Given the description of an element on the screen output the (x, y) to click on. 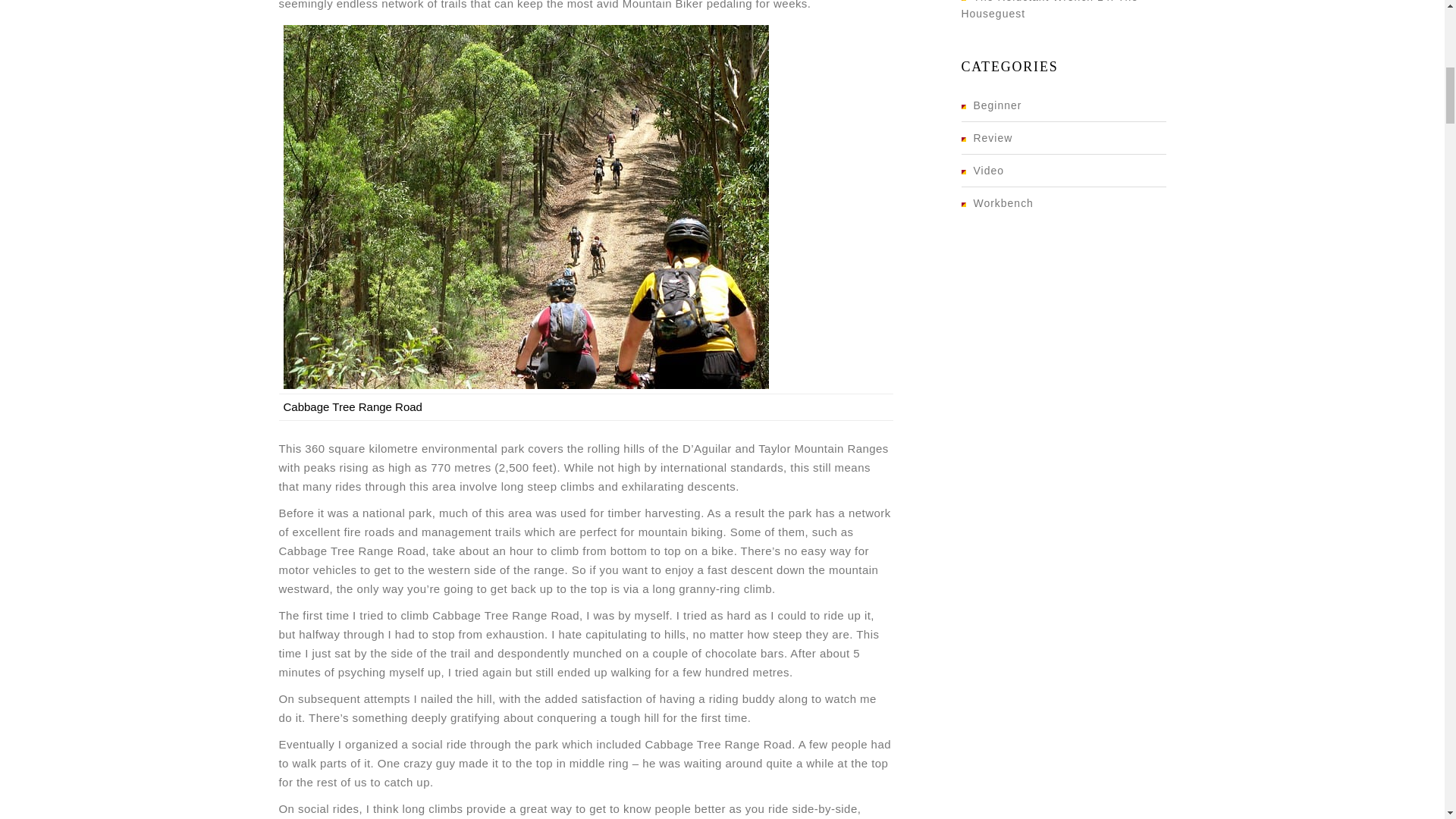
Workbench (996, 203)
Video (982, 170)
Review (986, 137)
The Reluctant Wrench 14: The Houseguest (1049, 9)
Beginner (991, 105)
